Given the description of an element on the screen output the (x, y) to click on. 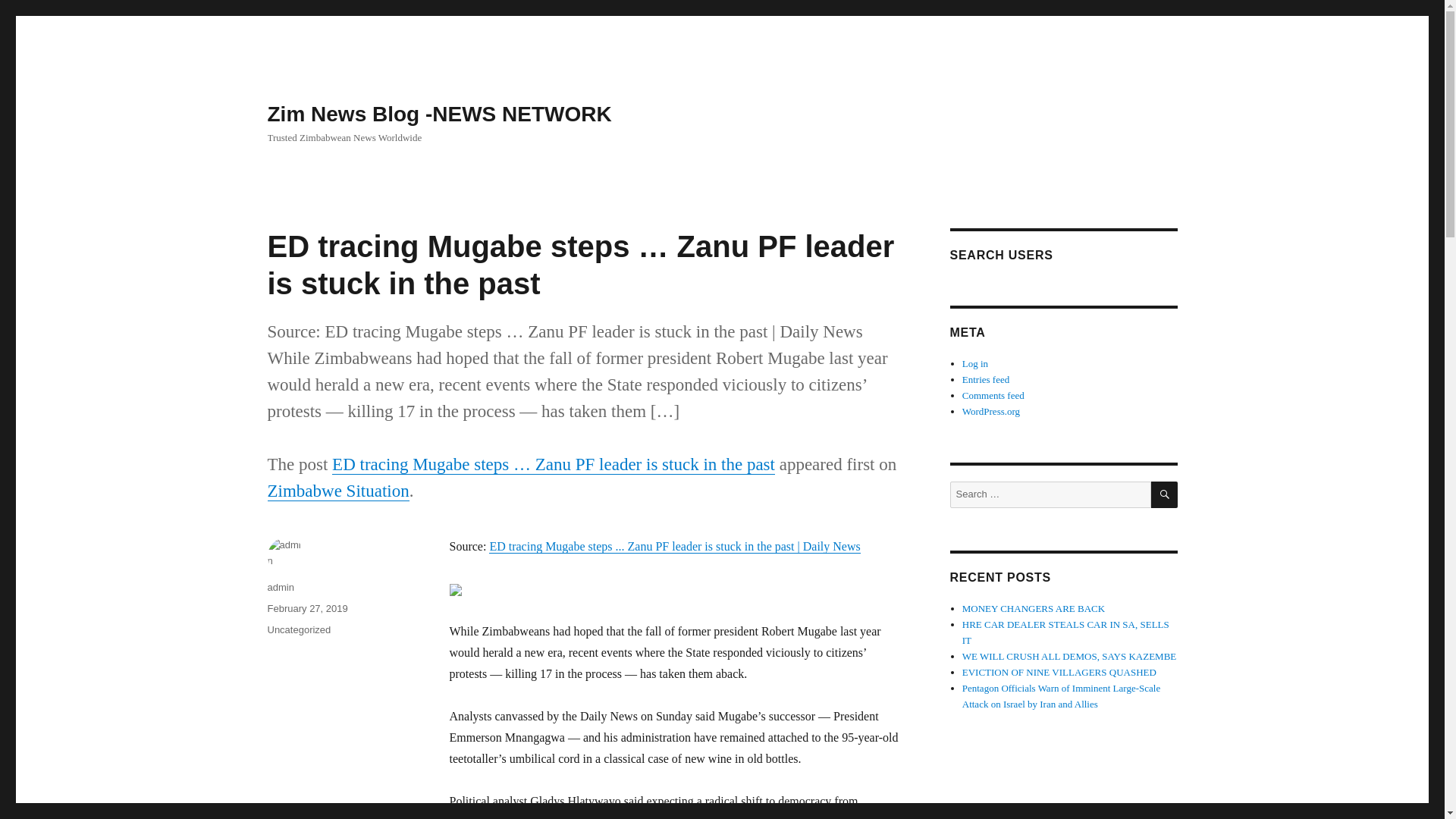
admin (280, 586)
February 27, 2019 (306, 608)
WordPress.org (991, 410)
Zimbabwe Situation (337, 490)
Comments feed (993, 395)
MONEY CHANGERS ARE BACK (1033, 608)
EVICTION OF NINE VILLAGERS QUASHED (1059, 672)
HRE CAR DEALER STEALS CAR IN SA, SELLS IT (1065, 632)
Log in (975, 363)
WE WILL CRUSH ALL DEMOS, SAYS KAZEMBE (1069, 655)
Entries feed (985, 378)
Zim News Blog -NEWS NETWORK (438, 114)
SEARCH (1164, 494)
